Given the description of an element on the screen output the (x, y) to click on. 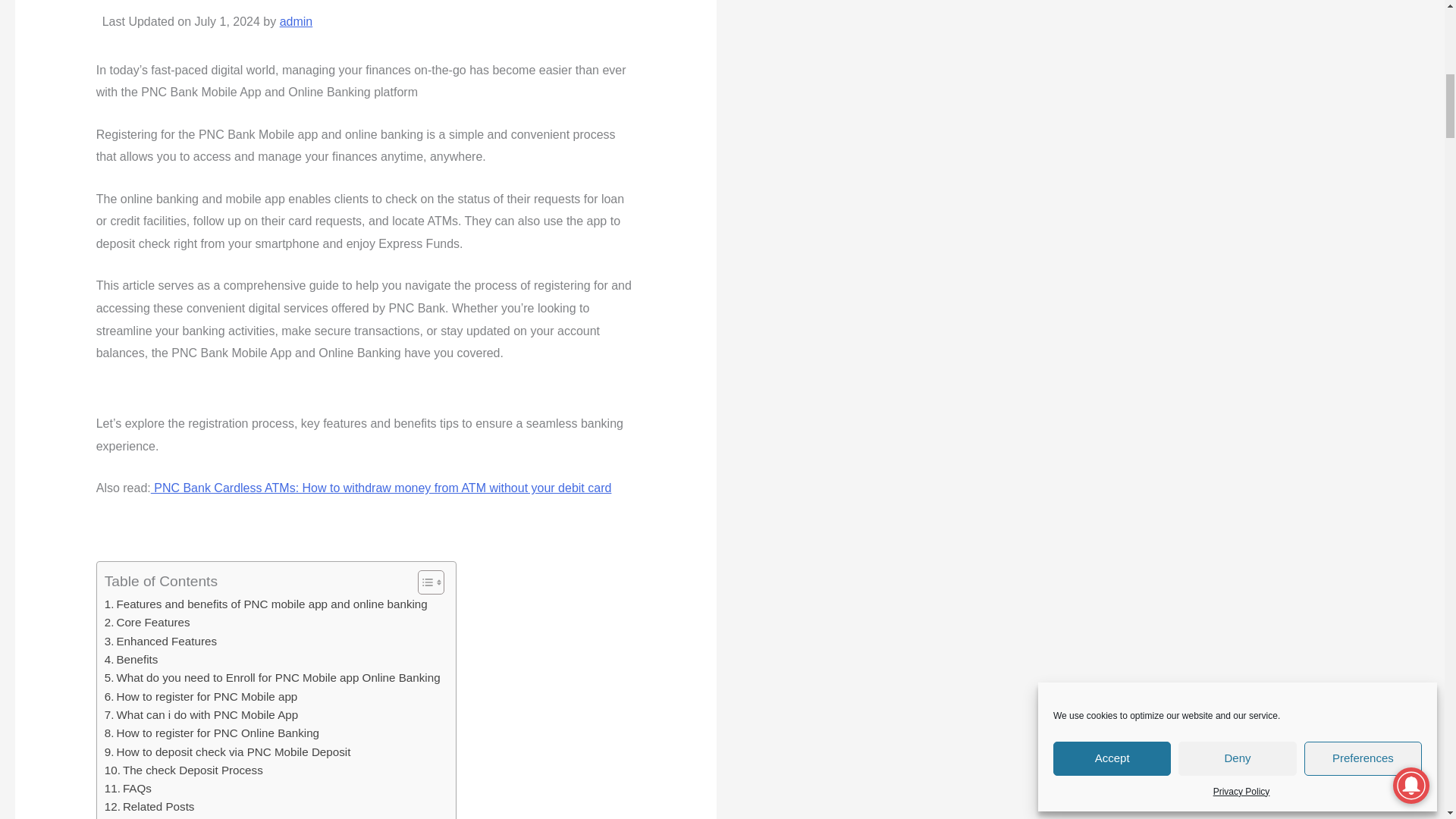
Features and benefits of PNC mobile app and online banking (266, 604)
What do you need to Enroll for PNC Mobile app Online Banking (272, 678)
How to register for PNC Mobile app (201, 696)
Benefits (131, 659)
Core Features (147, 622)
Enhanced Features (160, 641)
How to register for PNC Online Banking (211, 732)
What can i do with PNC Mobile App (201, 714)
